Given the description of an element on the screen output the (x, y) to click on. 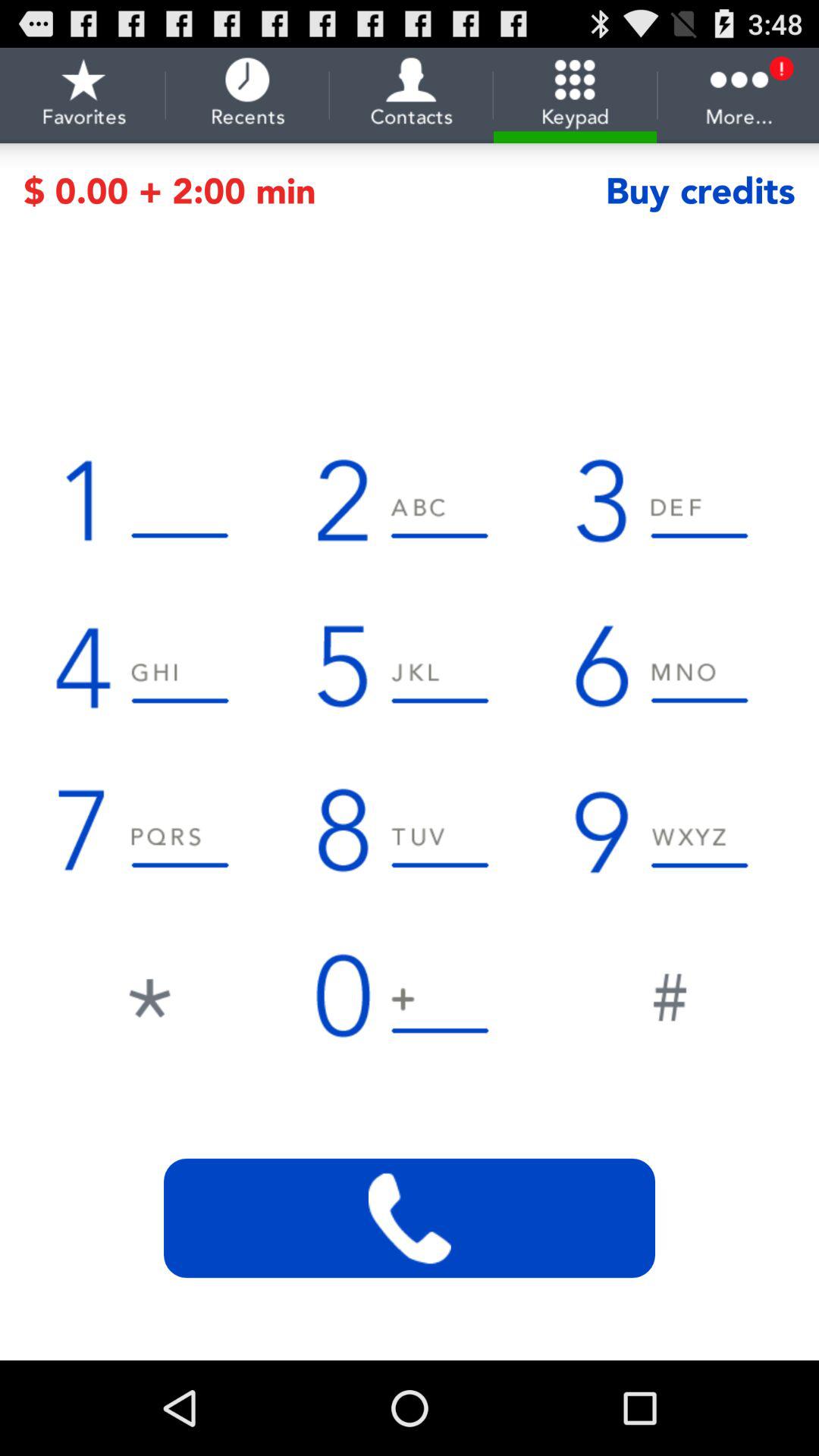
tap 0 00 2 icon (314, 190)
